Given the description of an element on the screen output the (x, y) to click on. 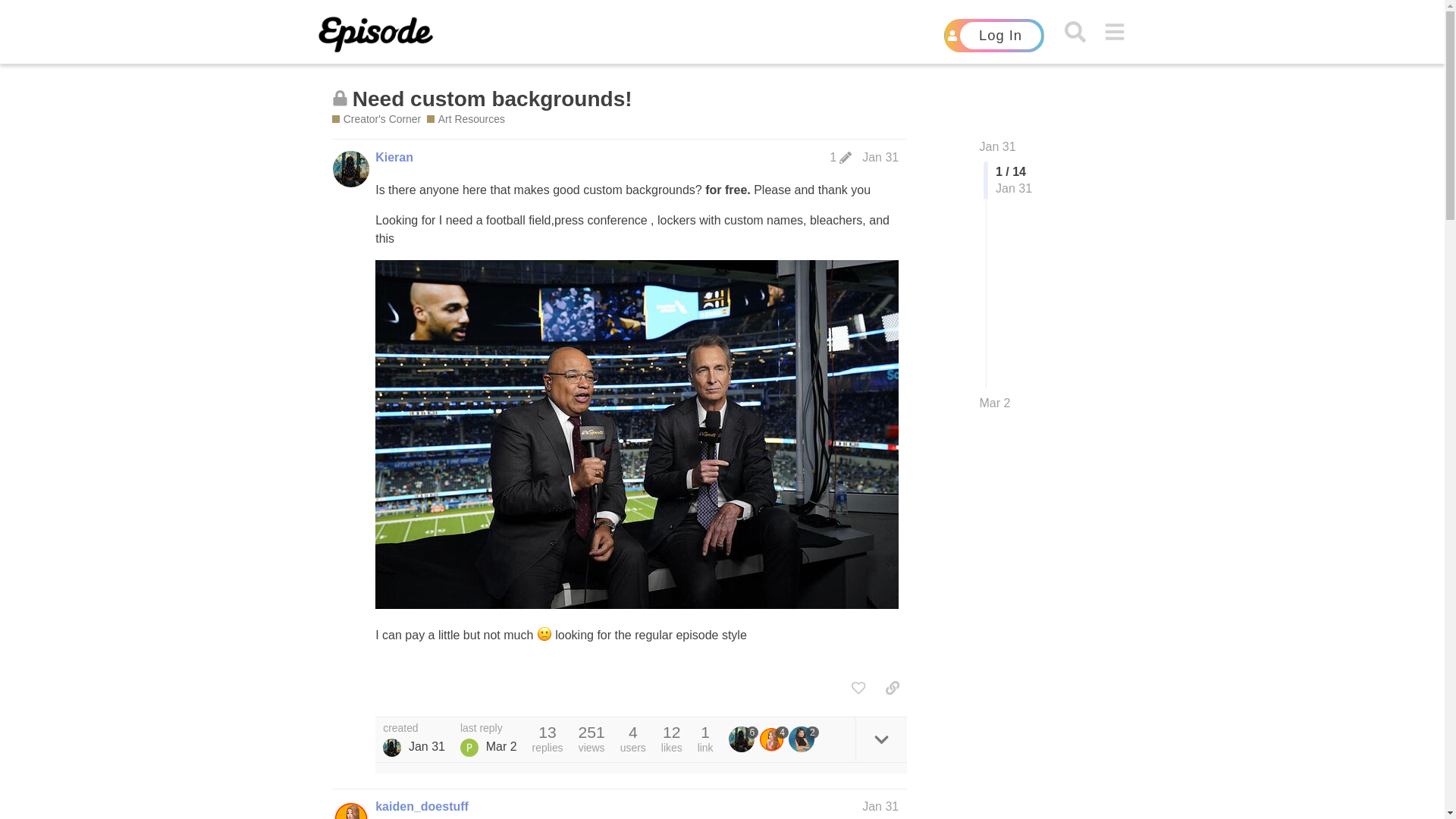
:frowning: (544, 633)
Jump to the last post (994, 402)
Post date (879, 156)
Jan 31 (879, 156)
Jump to the first post (997, 146)
copy a link to this post to clipboard (892, 687)
like this post (858, 687)
2 (803, 739)
Mar 2 (994, 402)
This topic is archived; it is frozen and cannot be changed (339, 98)
Jan 31 (997, 146)
menu (1114, 32)
expand topic details (881, 739)
6 (743, 739)
